Given the description of an element on the screen output the (x, y) to click on. 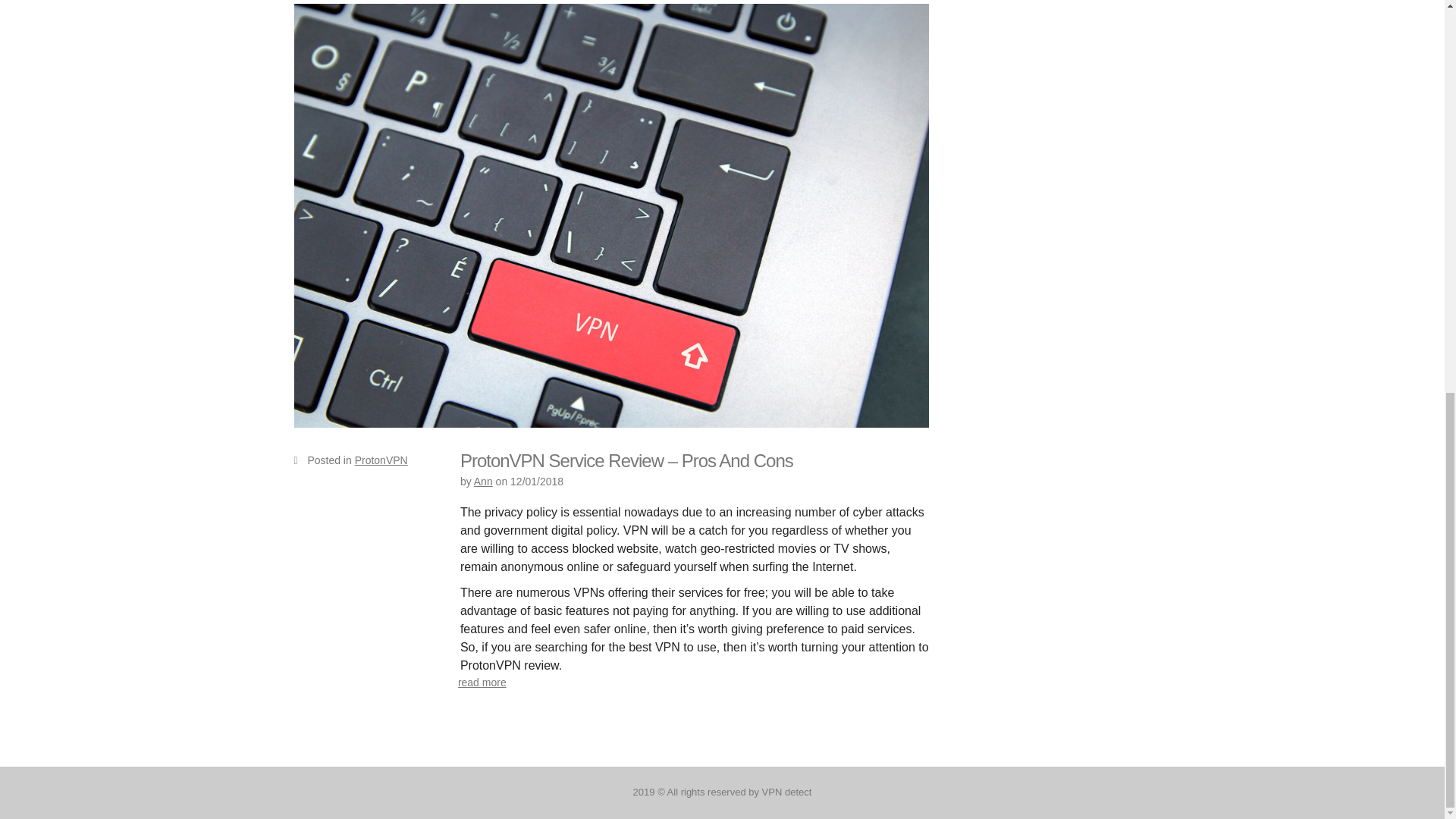
Posts by Ann (483, 481)
read more (481, 682)
ProtonVPN (381, 460)
Ann (483, 481)
